Given the description of an element on the screen output the (x, y) to click on. 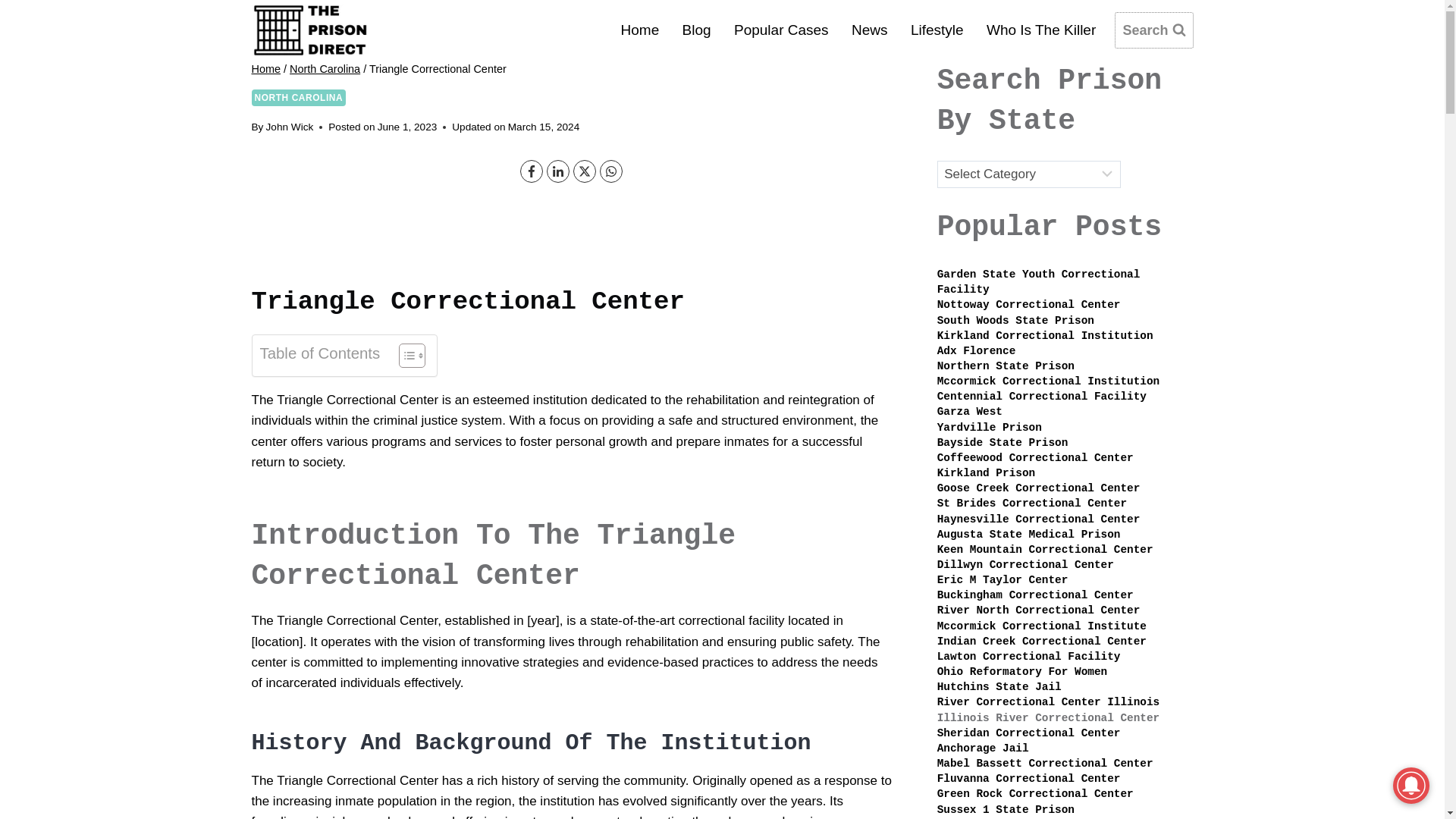
NORTH CAROLINA (298, 97)
Lifestyle (937, 29)
Home (266, 69)
News (869, 29)
Search (1153, 30)
Who Is The Killer (1041, 29)
North Carolina (324, 69)
Blog (695, 29)
John Wick (290, 126)
Popular Cases (781, 29)
